Given the description of an element on the screen output the (x, y) to click on. 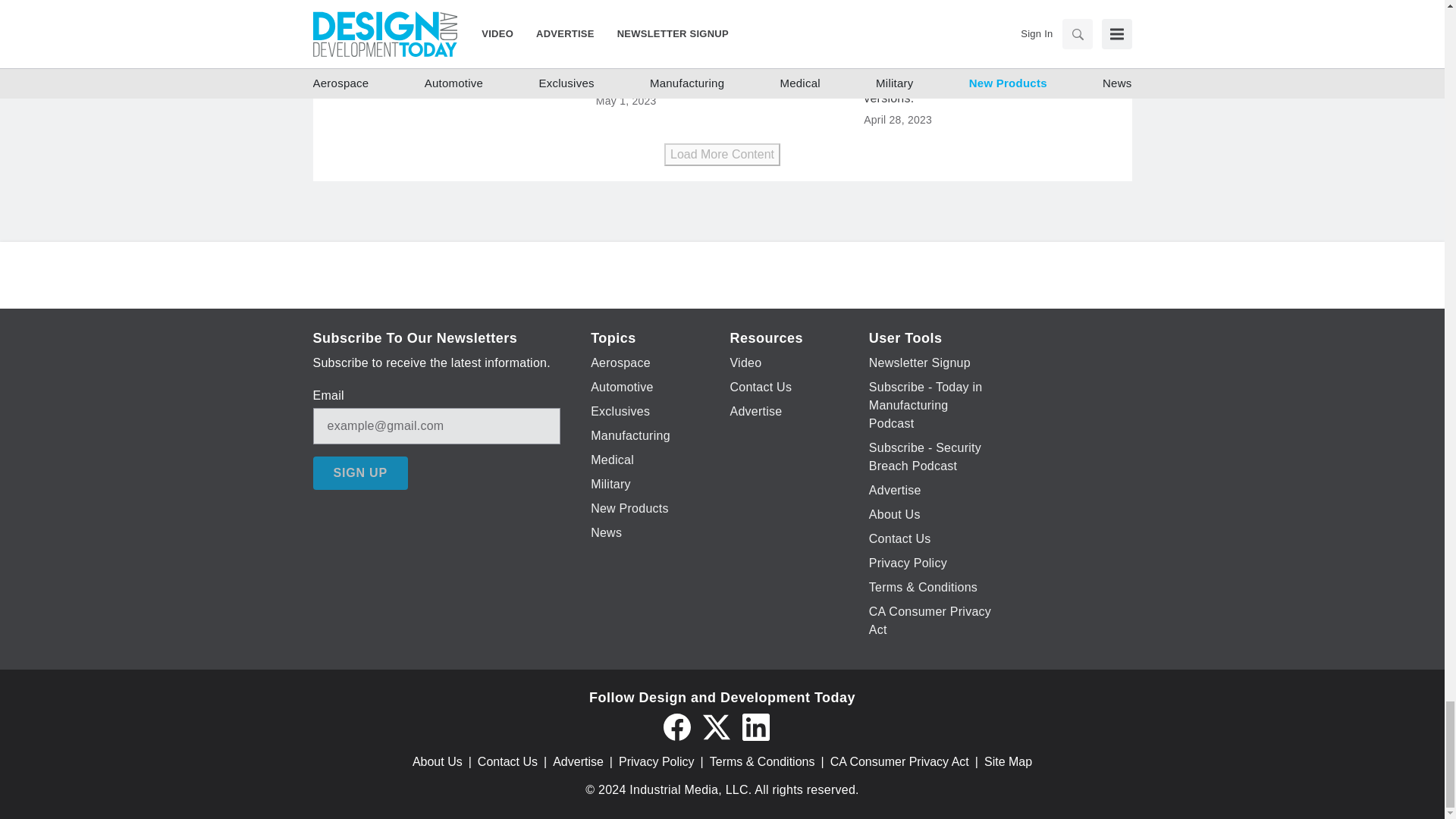
Twitter X icon (715, 727)
Facebook icon (676, 727)
LinkedIn icon (754, 727)
